Given the description of an element on the screen output the (x, y) to click on. 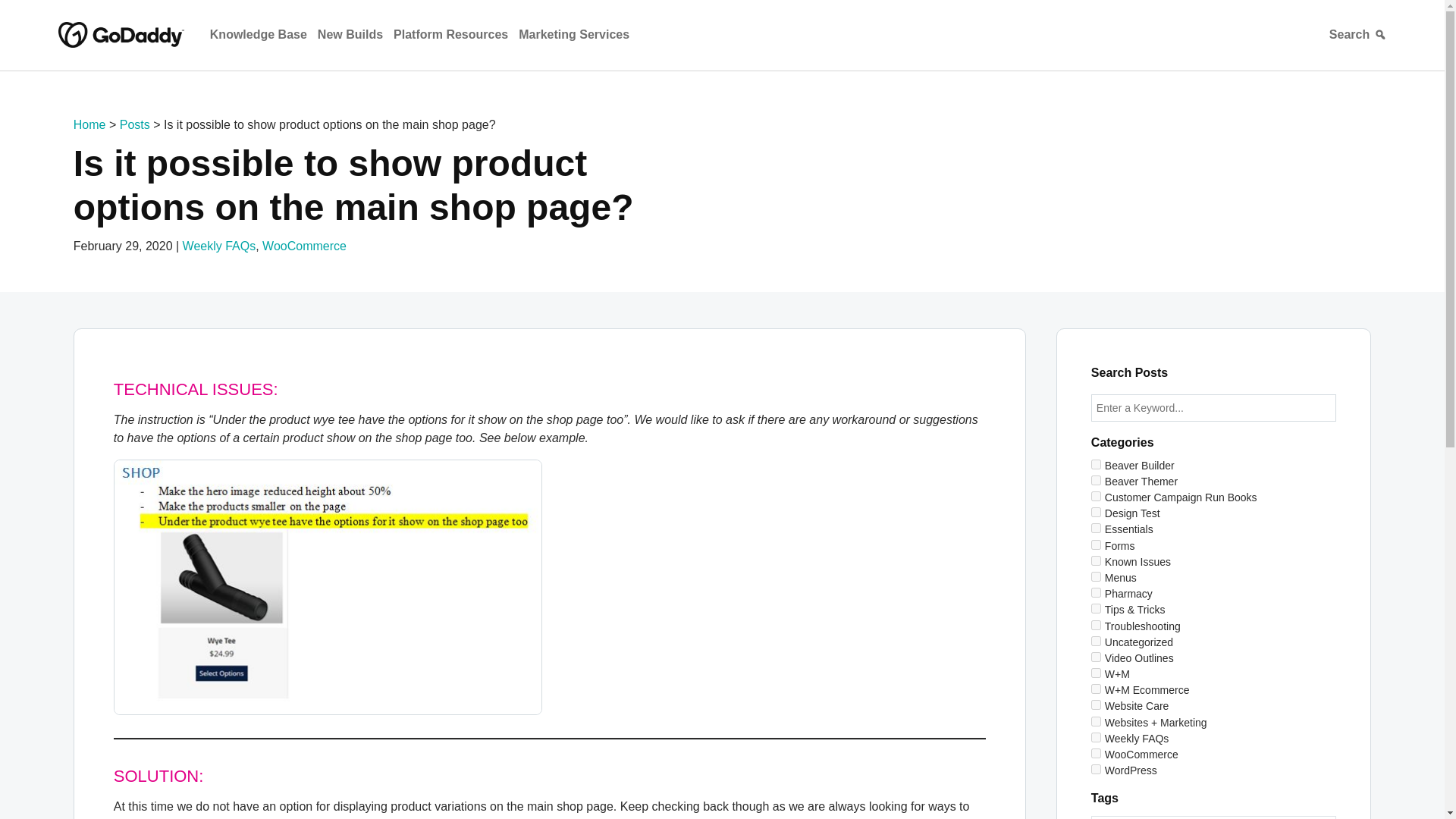
forms (1095, 544)
design-test (1095, 511)
woocommerce (1095, 753)
tips-tricks (1095, 608)
wm (1095, 673)
Knowledge Base (258, 34)
troubleshooting (1095, 624)
weekly-faqs (1095, 737)
essentials (1095, 528)
websites-marketing (1095, 721)
website-care (1095, 705)
wm-ecommerce (1095, 688)
pharmacy (1095, 592)
beaver-themer (1095, 480)
uncategorized (1095, 641)
